Given the description of an element on the screen output the (x, y) to click on. 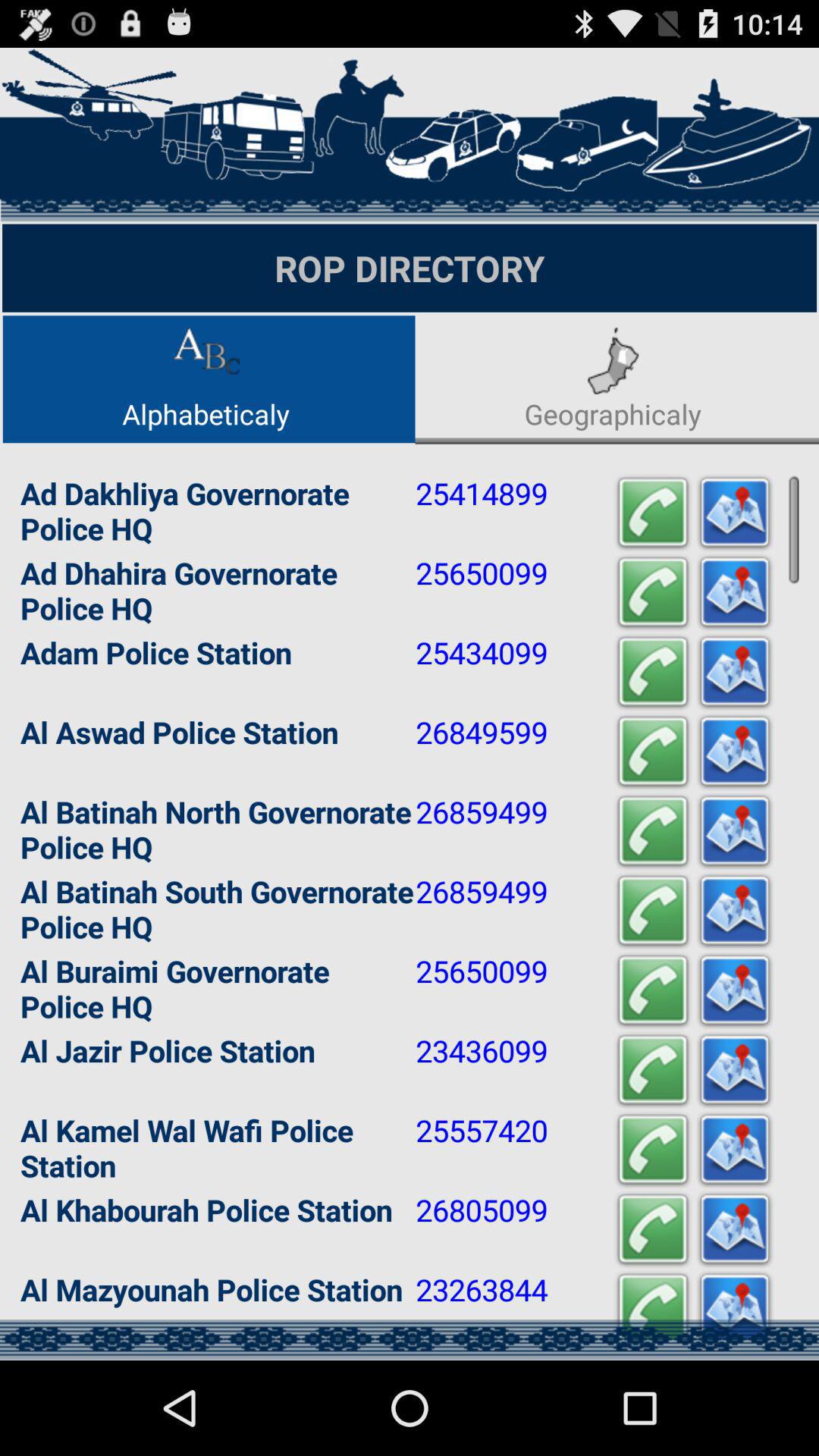
call phone number (652, 512)
